Given the description of an element on the screen output the (x, y) to click on. 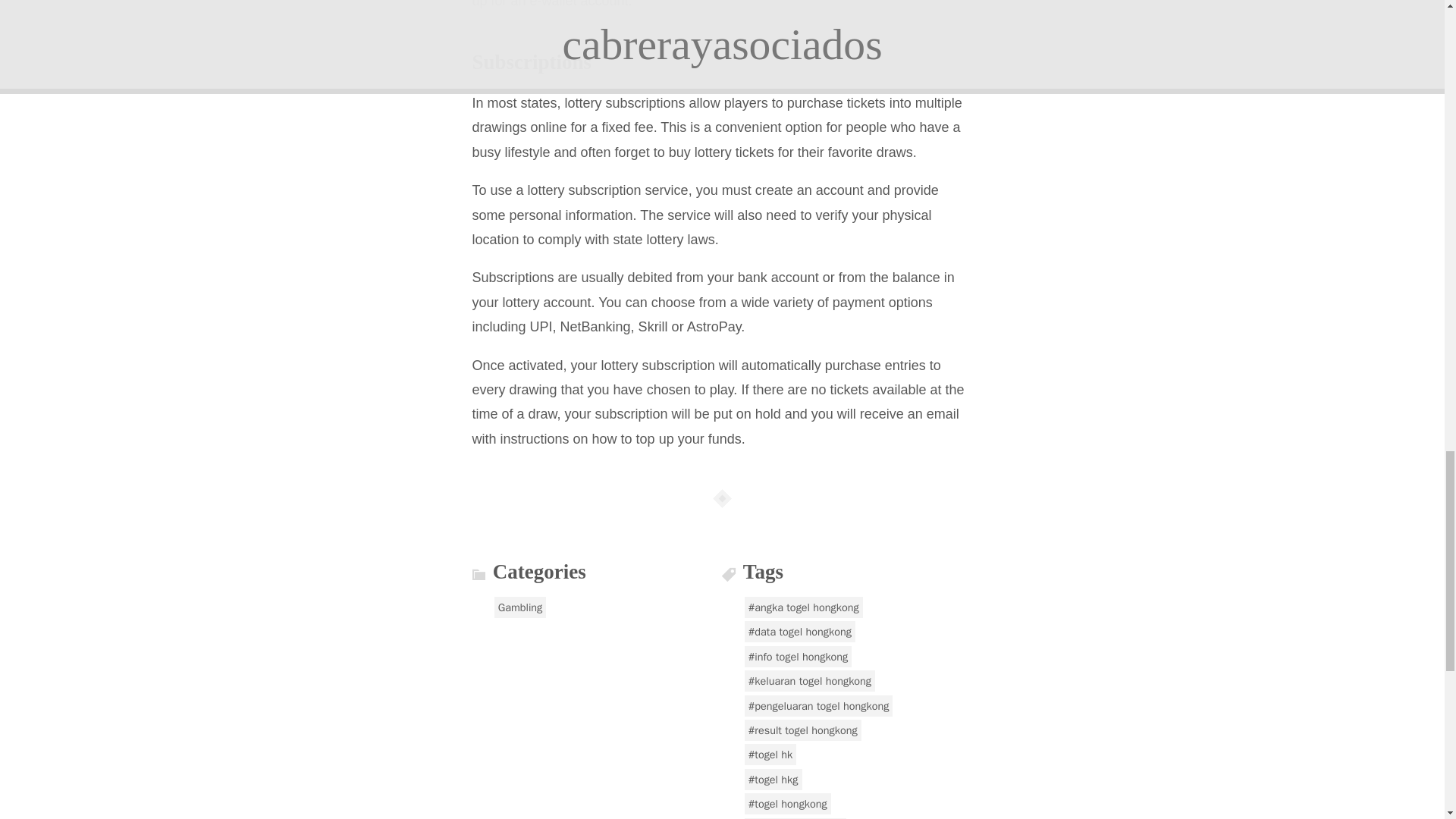
pengeluaran togel hongkong (818, 705)
data togel hongkong (800, 631)
result togel hongkong (802, 730)
Gambling (521, 607)
togel hongkong (787, 803)
info togel hongkong (797, 656)
togel hk (770, 753)
angka togel hongkong (803, 607)
keluaran togel hongkong (809, 680)
